Given the description of an element on the screen output the (x, y) to click on. 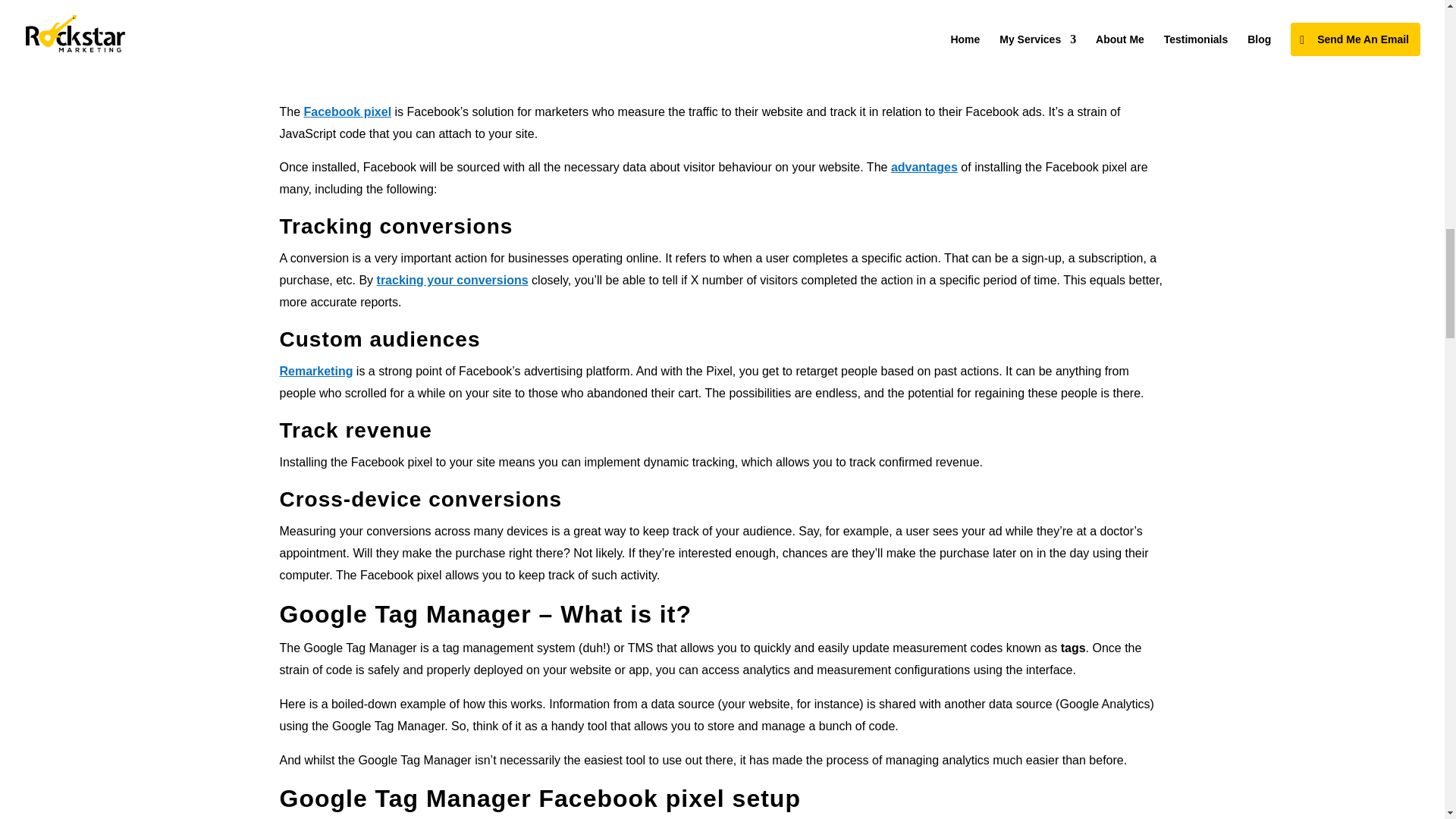
tracking your conversions (452, 279)
Facebook pixel (347, 111)
advantages (924, 166)
